Given the description of an element on the screen output the (x, y) to click on. 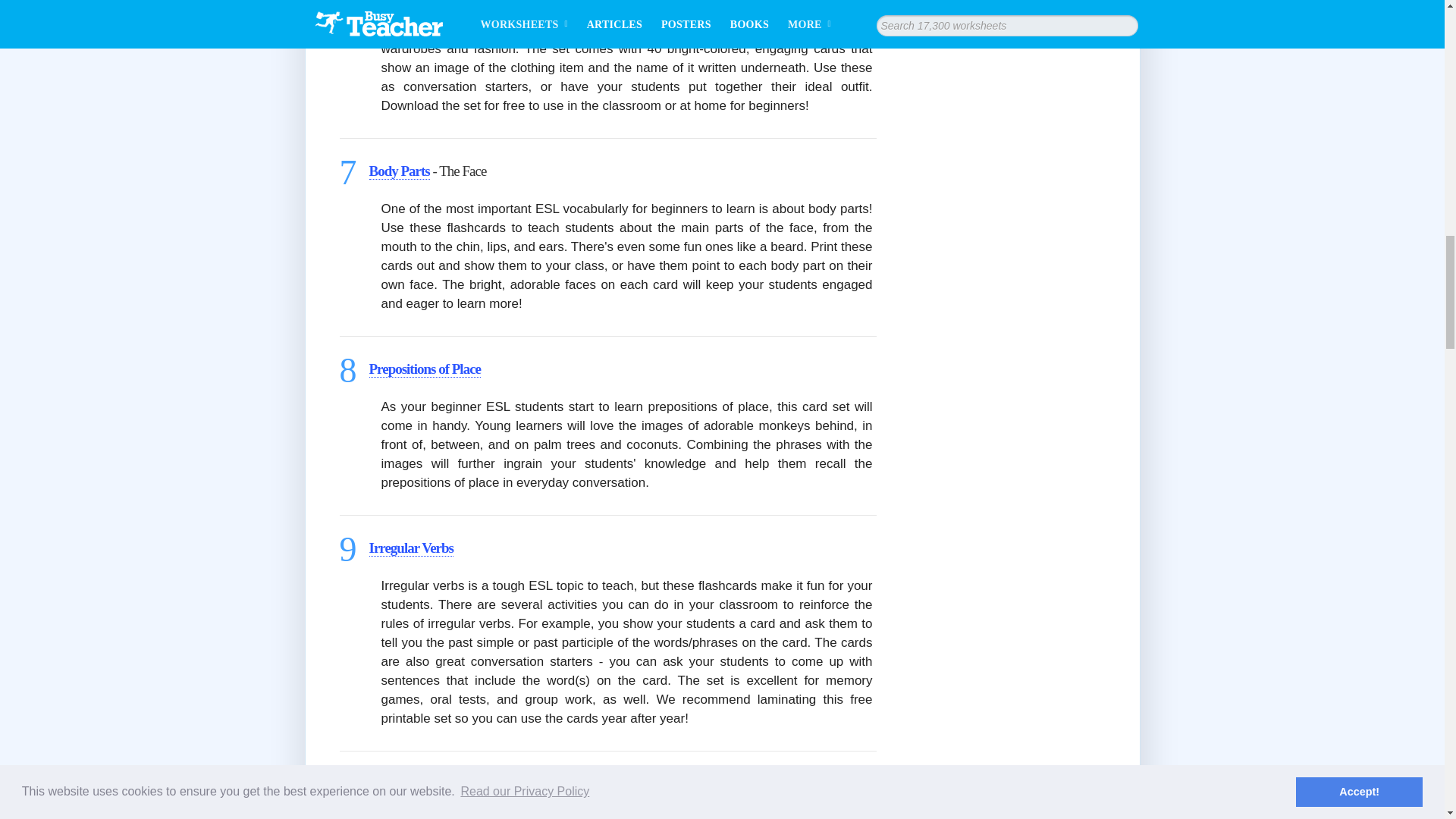
Veggies (395, 783)
Prepositions of Place (424, 369)
Irregular Verbs (410, 547)
Body Parts (398, 170)
